Given the description of an element on the screen output the (x, y) to click on. 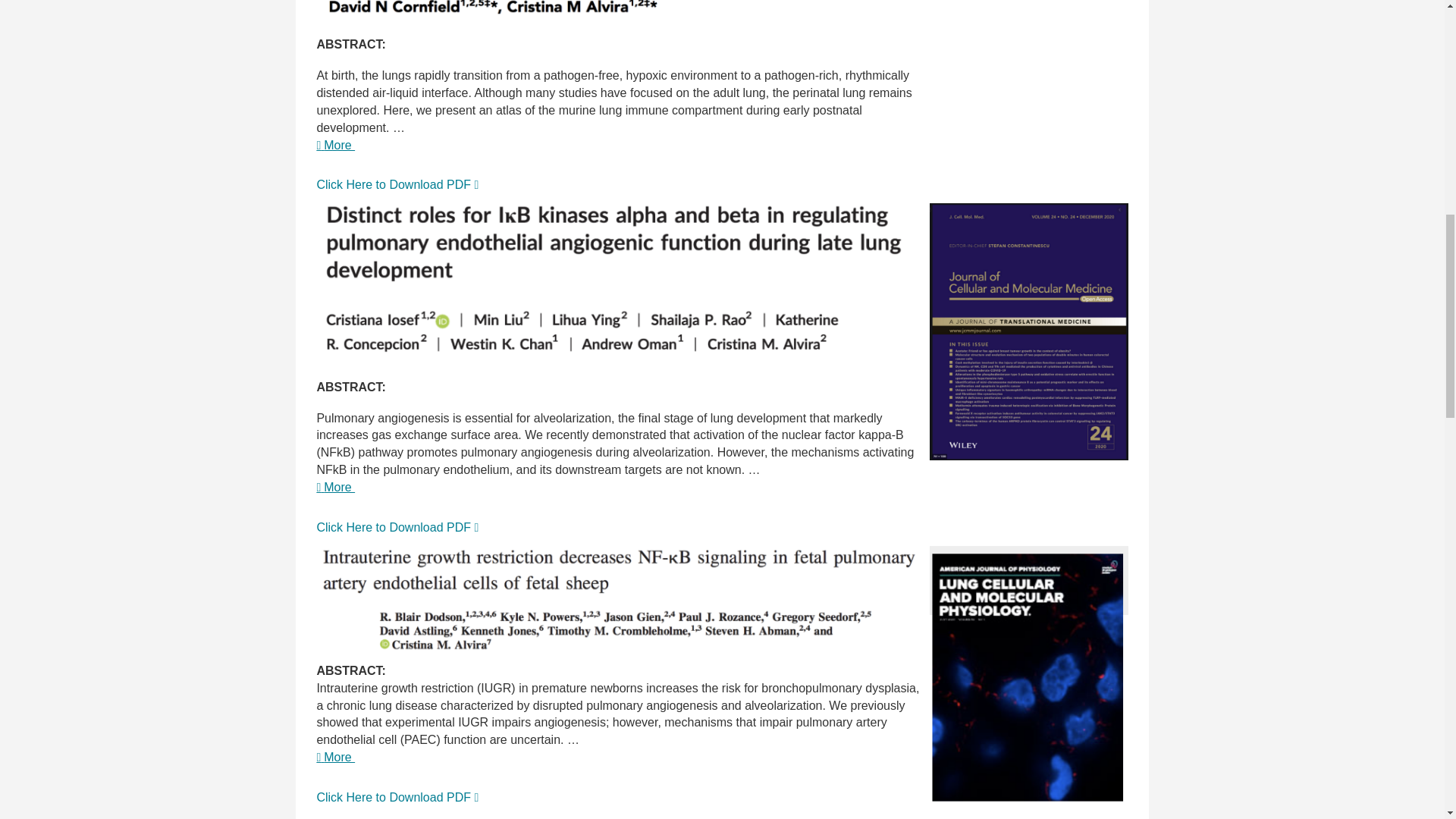
IUGR title  (617, 599)
eLife title  (617, 13)
JCCM title  (617, 281)
